Given the description of an element on the screen output the (x, y) to click on. 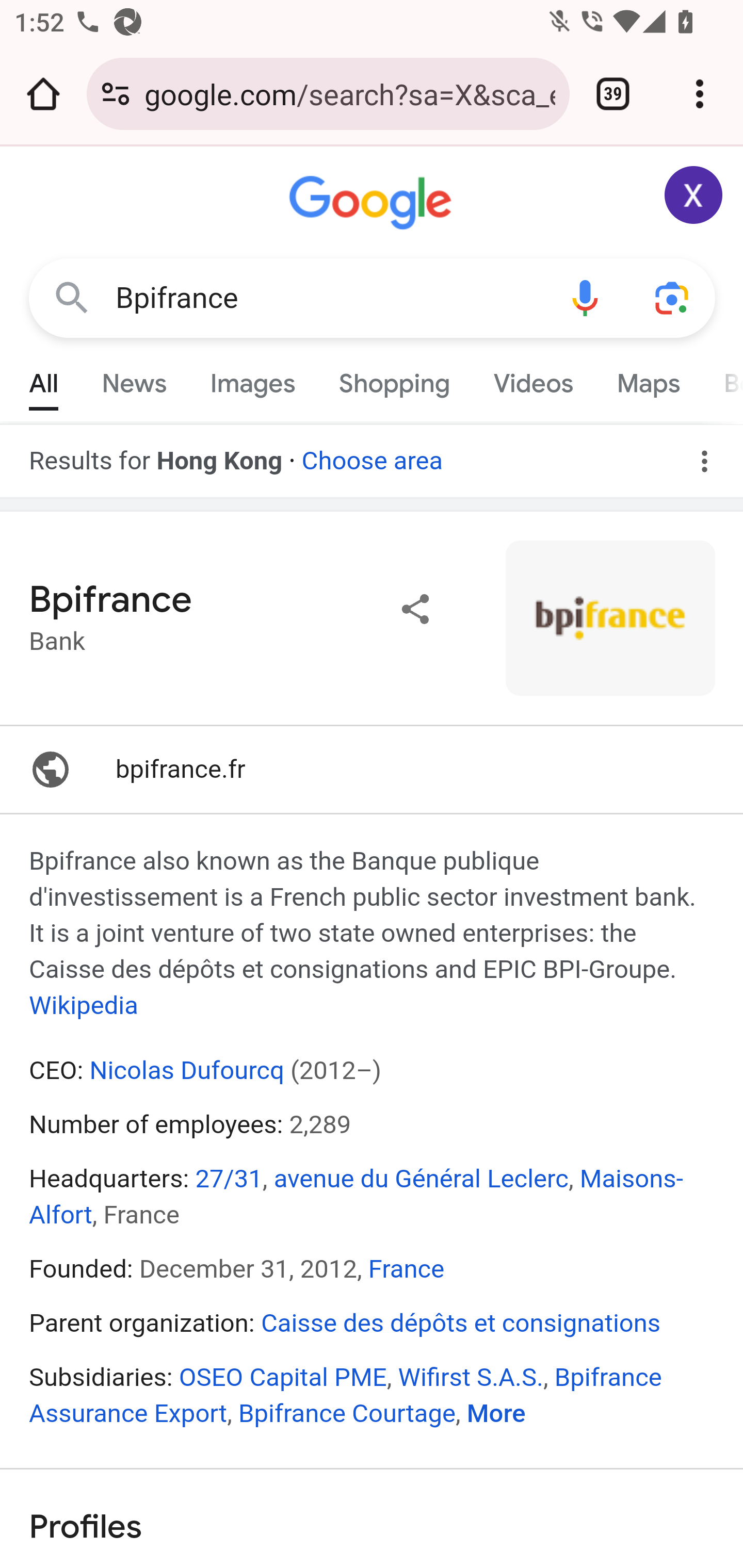
Open the home page (43, 93)
Connection is secure (115, 93)
Switch or close tabs (612, 93)
Customize and control Google Chrome (699, 93)
Google (372, 203)
Google Account: Xiaoran (zxrappiumtest@gmail.com) (694, 195)
Google Search (71, 296)
Search using your camera or photos (672, 296)
Bpifrance (328, 297)
News (134, 378)
Images (252, 378)
Shopping (394, 378)
Videos (533, 378)
Maps (647, 378)
Choose area (371, 453)
Share (415, 608)
bpifrance.fr (371, 769)
Wikipedia (83, 1005)
Nicolas Dufourcq (186, 1069)
Maisons-Alfort (356, 1195)
27/31 (228, 1177)
avenue du Général Leclerc (420, 1177)
France (405, 1268)
Caisse des dépôts et consignations (461, 1323)
Bpifrance Assurance Export (345, 1395)
OSEO Capital PME (281, 1377)
Wifirst S.A.S. (470, 1377)
Bpifrance Courtage (346, 1413)
More (496, 1413)
